Given the description of an element on the screen output the (x, y) to click on. 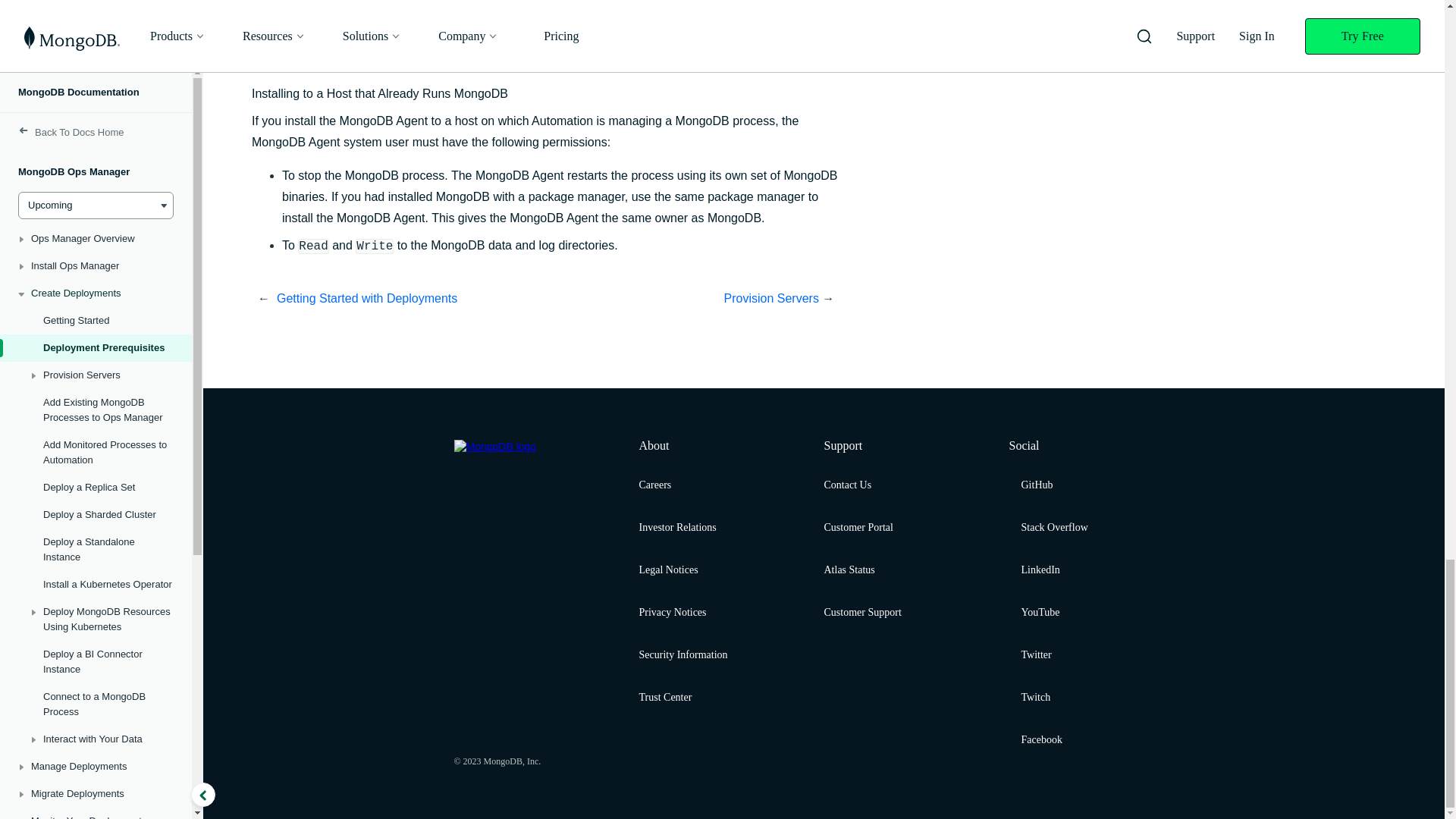
Next Section (682, 298)
Previous Section (411, 298)
